Given the description of an element on the screen output the (x, y) to click on. 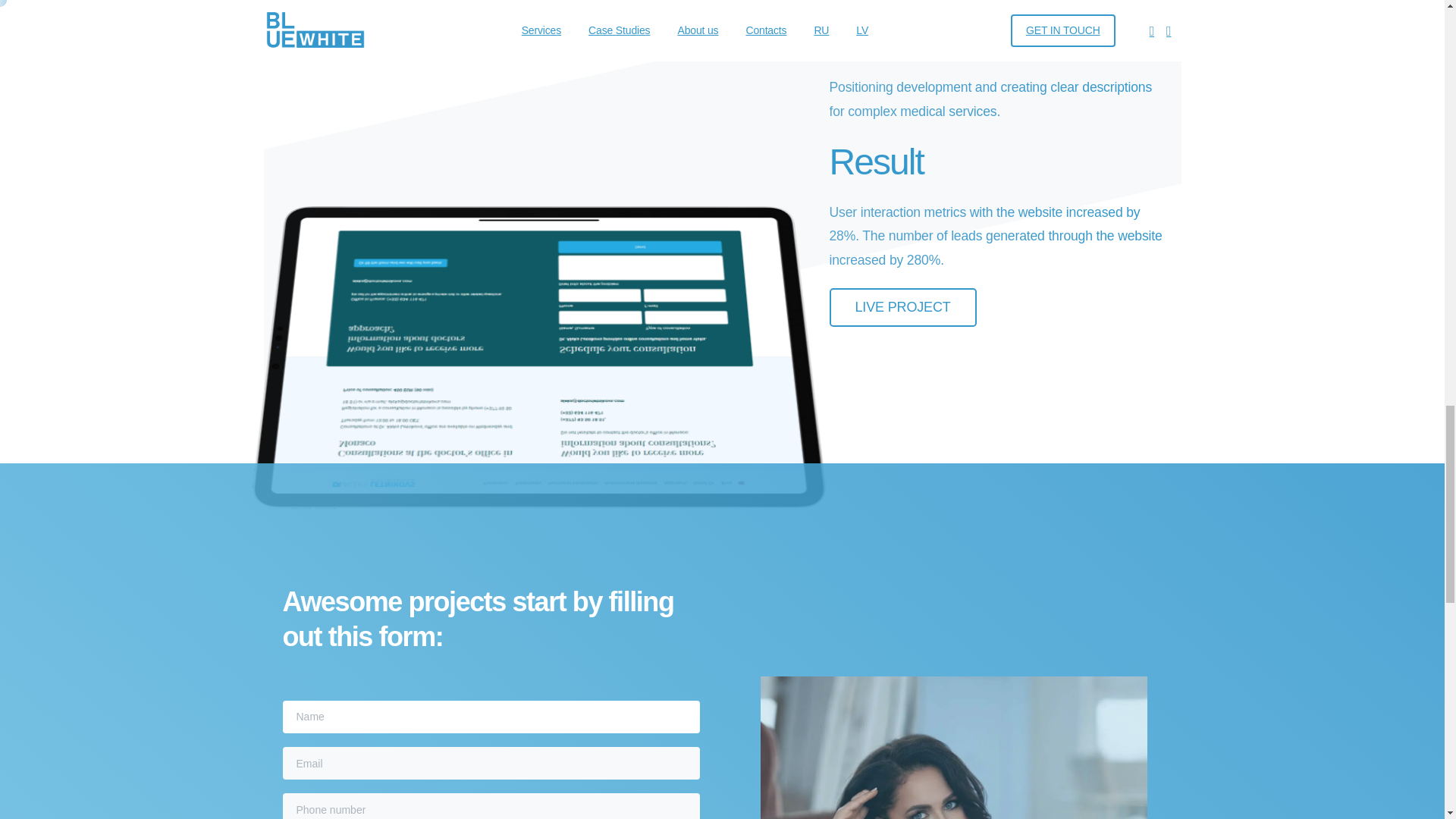
LIVE PROJECT (902, 239)
